Given the description of an element on the screen output the (x, y) to click on. 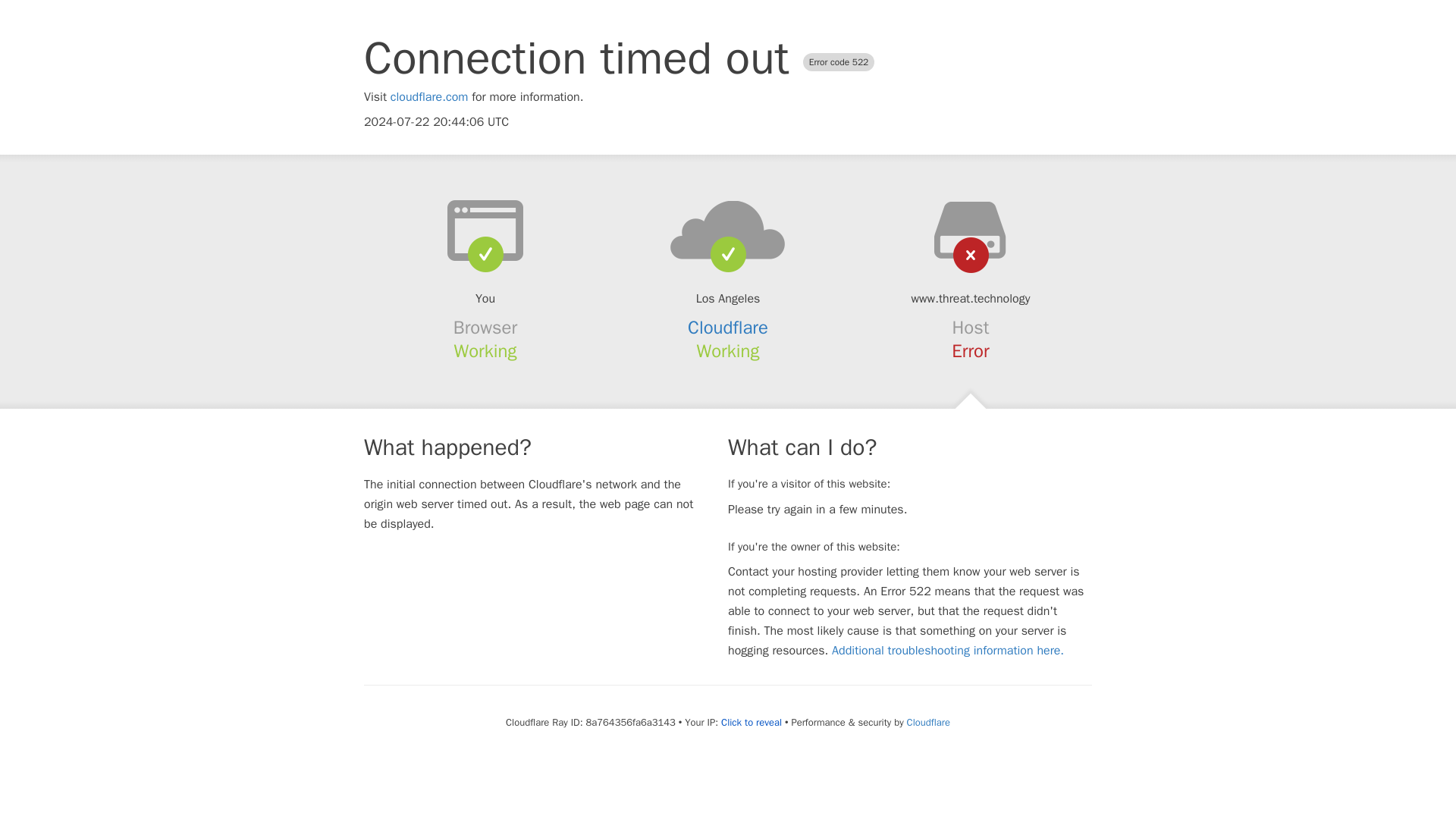
Additional troubleshooting information here. (947, 650)
cloudflare.com (429, 96)
Cloudflare (727, 327)
Click to reveal (750, 722)
Cloudflare (928, 721)
